Given the description of an element on the screen output the (x, y) to click on. 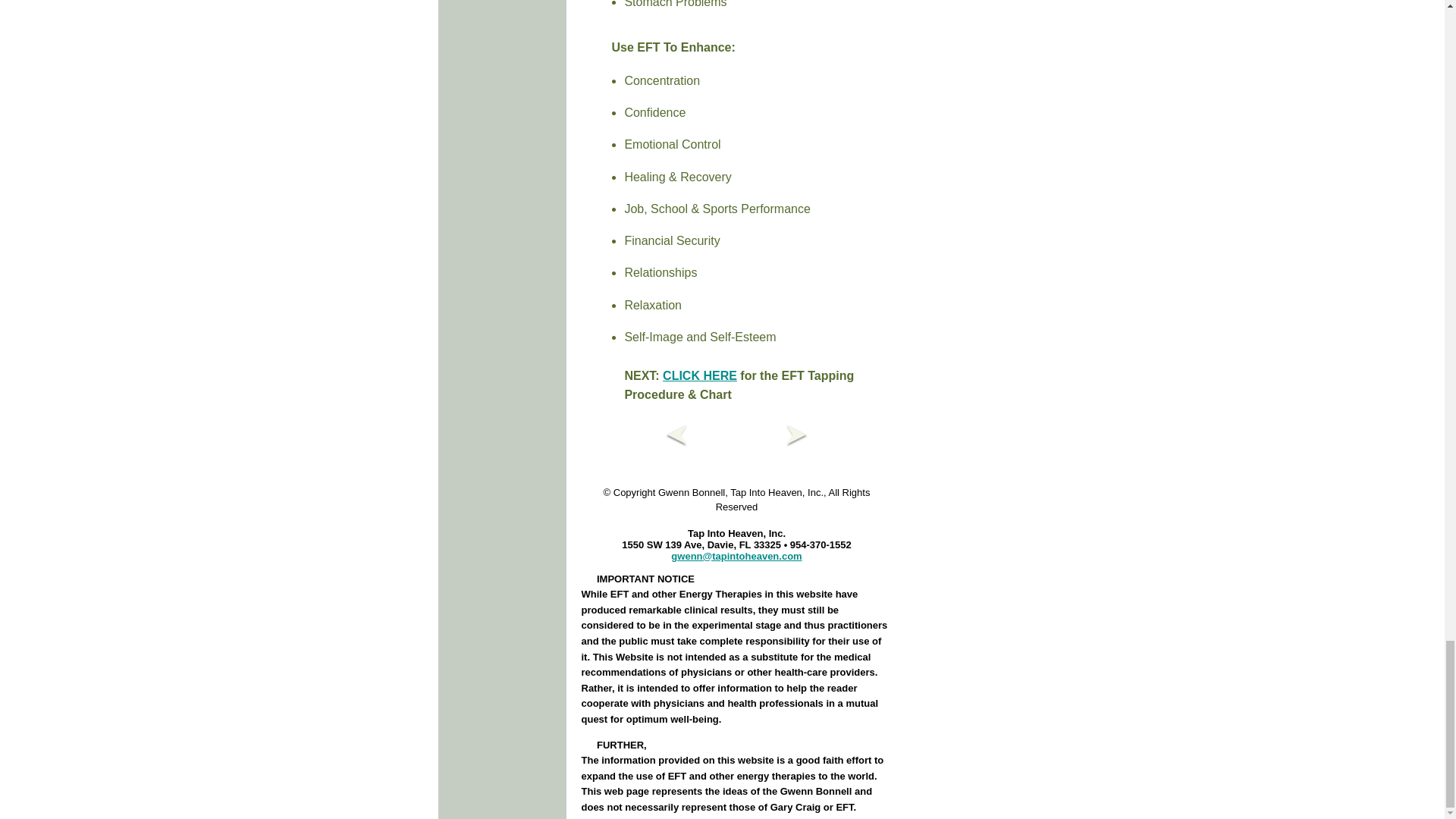
Next (797, 442)
Back (676, 442)
CLICK HERE (699, 375)
